Given the description of an element on the screen output the (x, y) to click on. 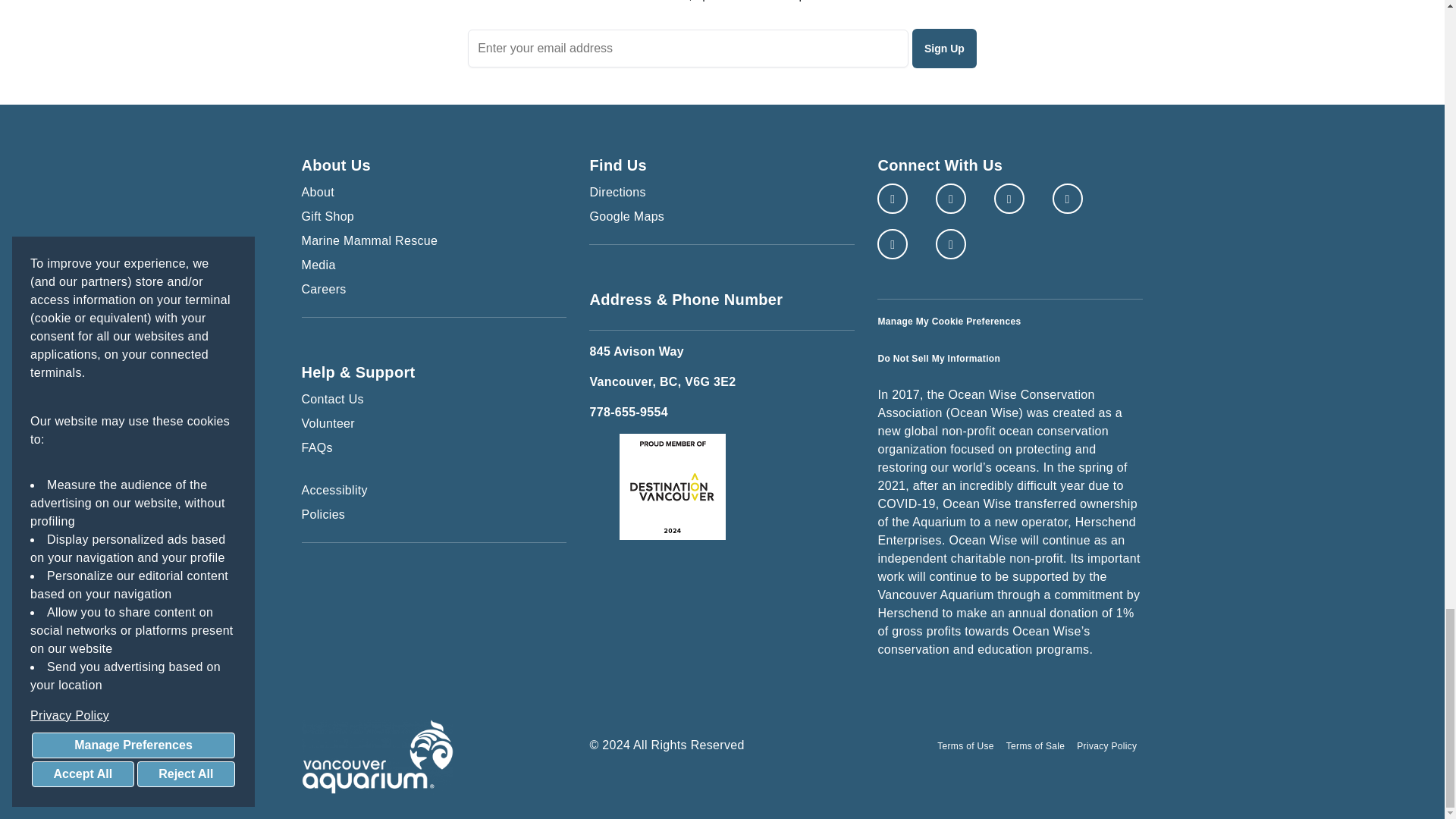
Sign Up (944, 47)
FAQs (434, 447)
Volunteer (434, 423)
